Given the description of an element on the screen output the (x, y) to click on. 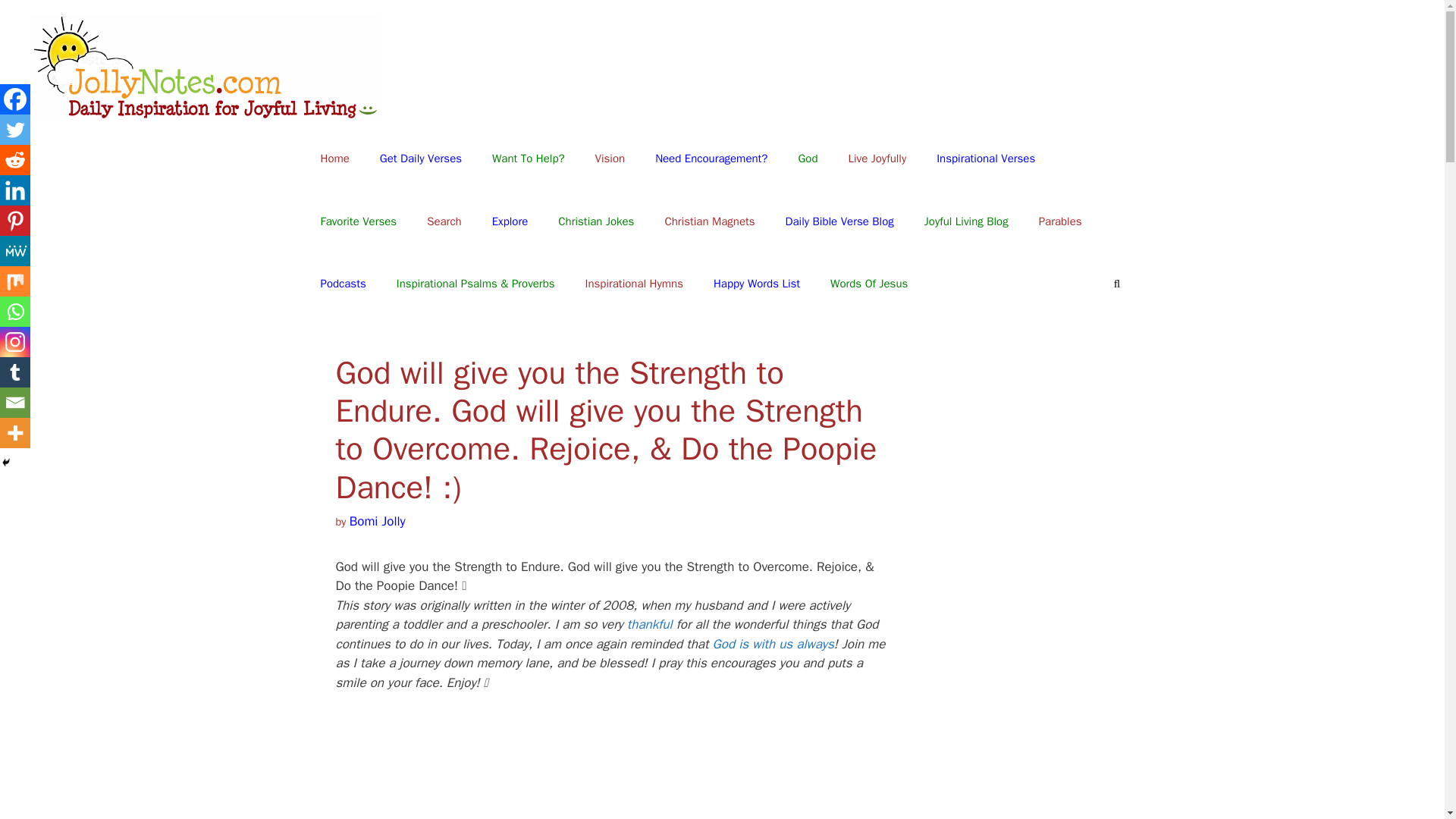
Happy Words List (756, 283)
God (807, 157)
Podcasts (342, 283)
Inspirational Verses (985, 157)
Advertisement (609, 775)
Get Daily Verses (421, 157)
Vision (609, 157)
Home (334, 157)
Favorite Verses (358, 221)
Parables (1060, 221)
Christian Magnets (709, 221)
thankful (649, 624)
View all posts by Bomi Jolly (377, 521)
Daily Bible Verse Blog (839, 221)
Words Of Jesus (869, 283)
